Given the description of an element on the screen output the (x, y) to click on. 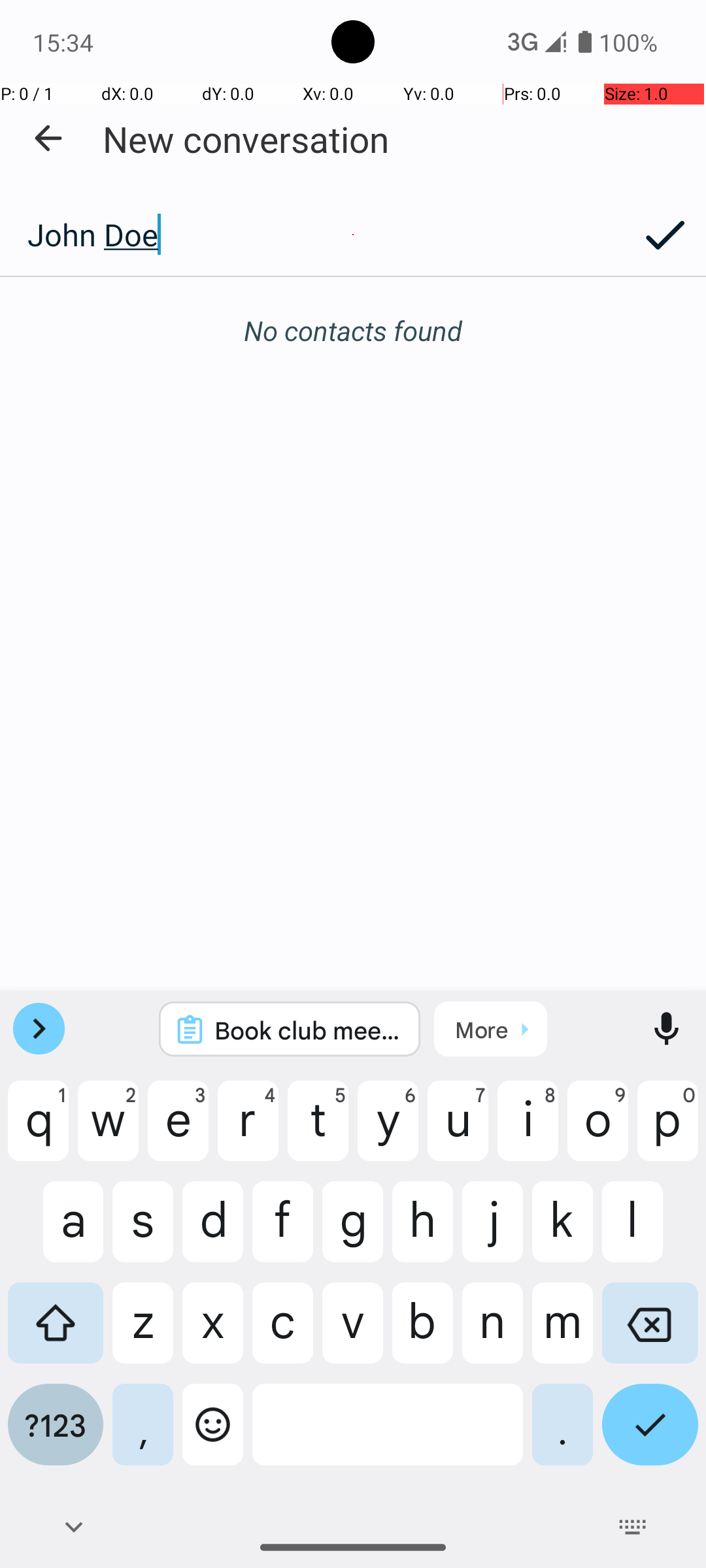
New conversation Element type: android.widget.TextView (245, 138)
John Doe Element type: android.widget.EditText (311, 234)
No contacts found Element type: android.widget.TextView (353, 329)
Book club meets next Tuesday to discuss '1984'. Element type: android.widget.TextView (306, 1029)
